Given the description of an element on the screen output the (x, y) to click on. 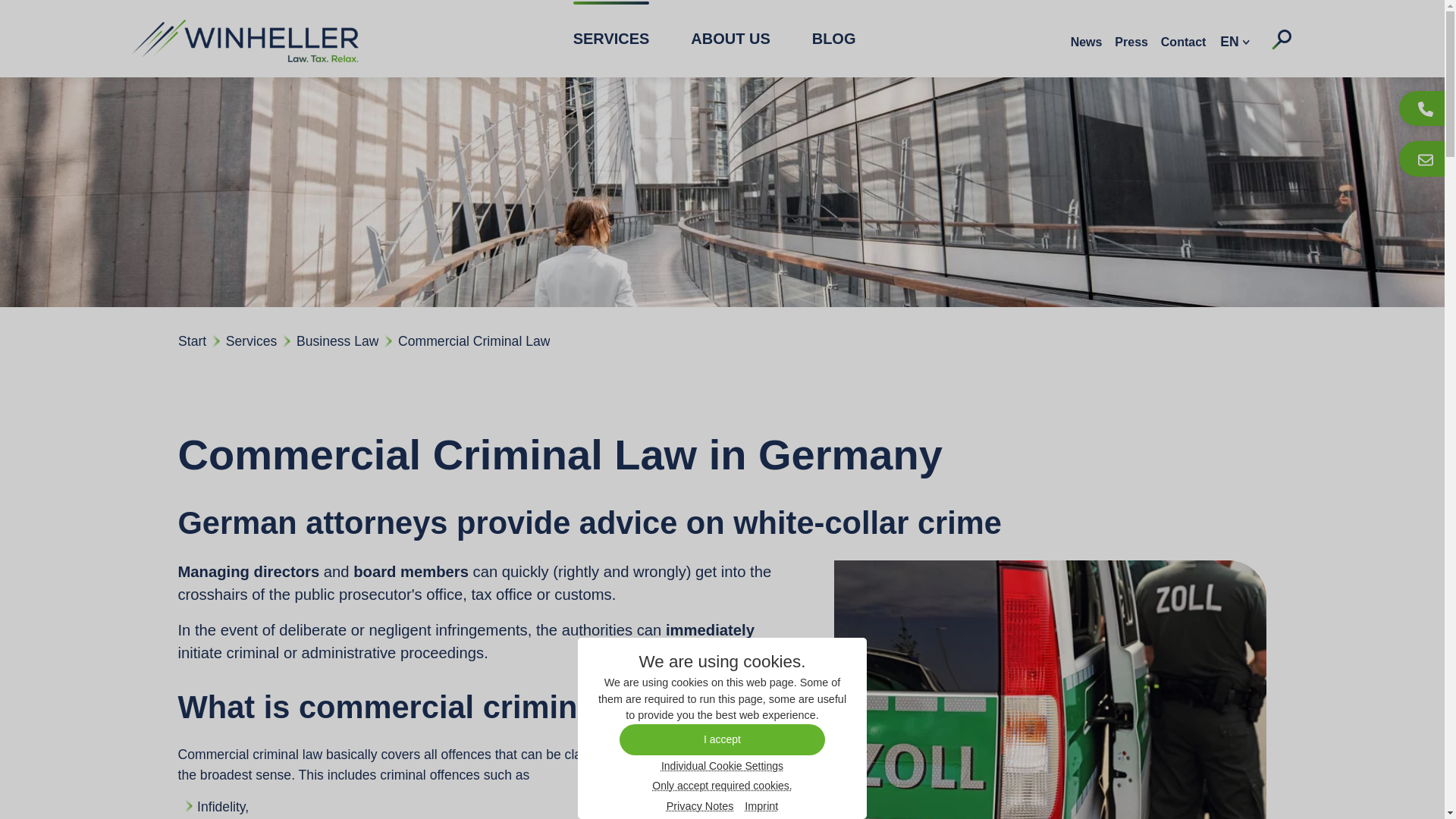
SERVICES (611, 38)
Only accept required cookies. (720, 785)
Privacy Notes (699, 806)
Winheller.com (244, 37)
Our Law and Tax Services in Germany (611, 38)
Imprint (760, 806)
I accept (722, 739)
ABOUT US (730, 38)
Individual Cookie Settings (722, 765)
